Given the description of an element on the screen output the (x, y) to click on. 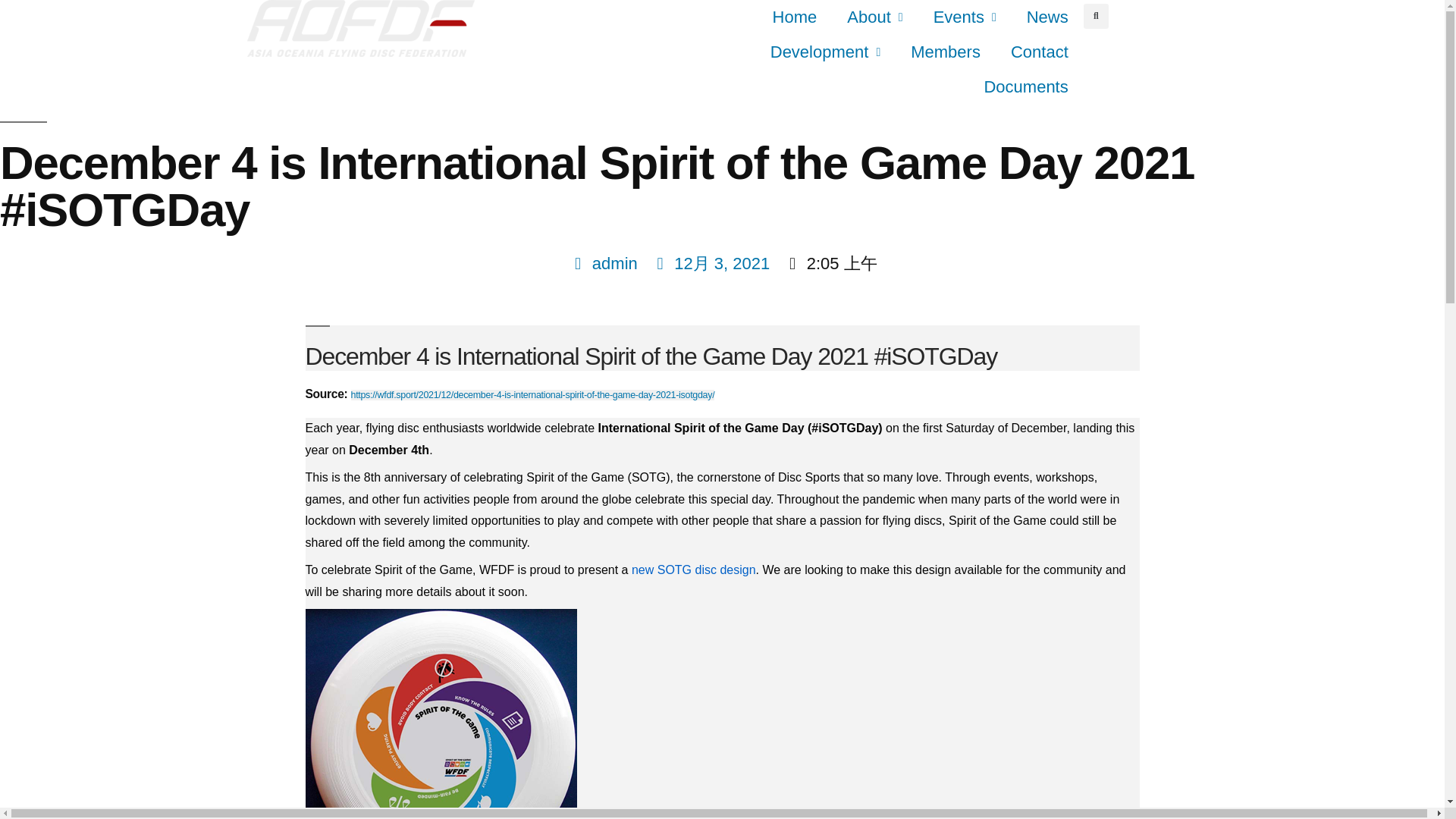
Development (825, 52)
About (874, 17)
Documents (1025, 86)
Members (945, 52)
Home (794, 17)
News (1047, 17)
Events (964, 17)
Contact (1039, 52)
